Given the description of an element on the screen output the (x, y) to click on. 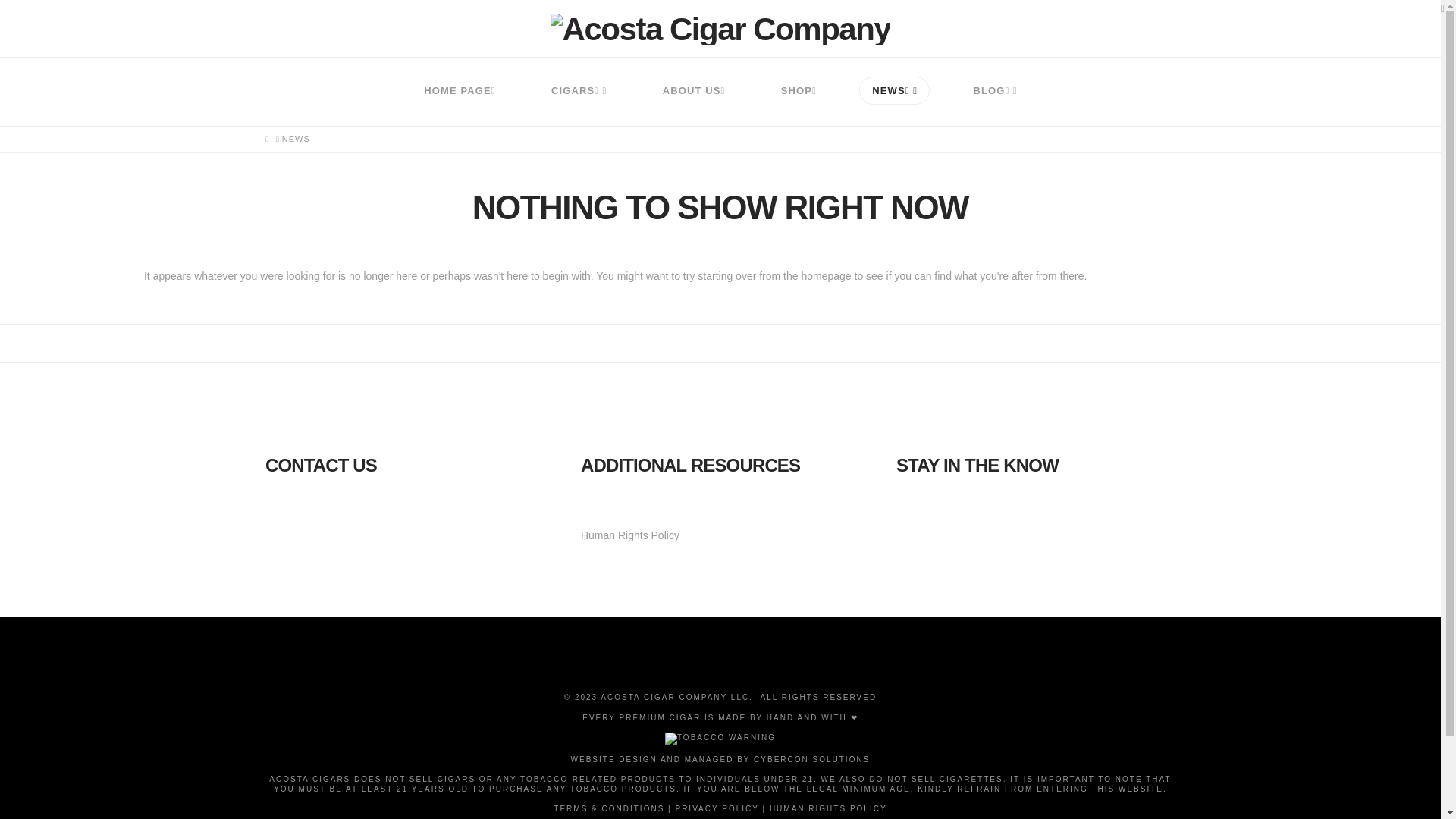
ABOUT US (693, 91)
NEWS (296, 138)
Privacy Policy (716, 808)
HUMAN RIGHTS POLICY (828, 808)
HOME PAGE (459, 91)
Human Rights Policy (629, 535)
HOME (266, 138)
Human Rights Policy (828, 808)
PRIVACY POLICY (716, 808)
You Are Here (296, 138)
CIGARS (578, 91)
SHOP (798, 91)
CYBERCON SOLUTIONS (811, 759)
NEWS (894, 91)
BLOG (994, 91)
